Given the description of an element on the screen output the (x, y) to click on. 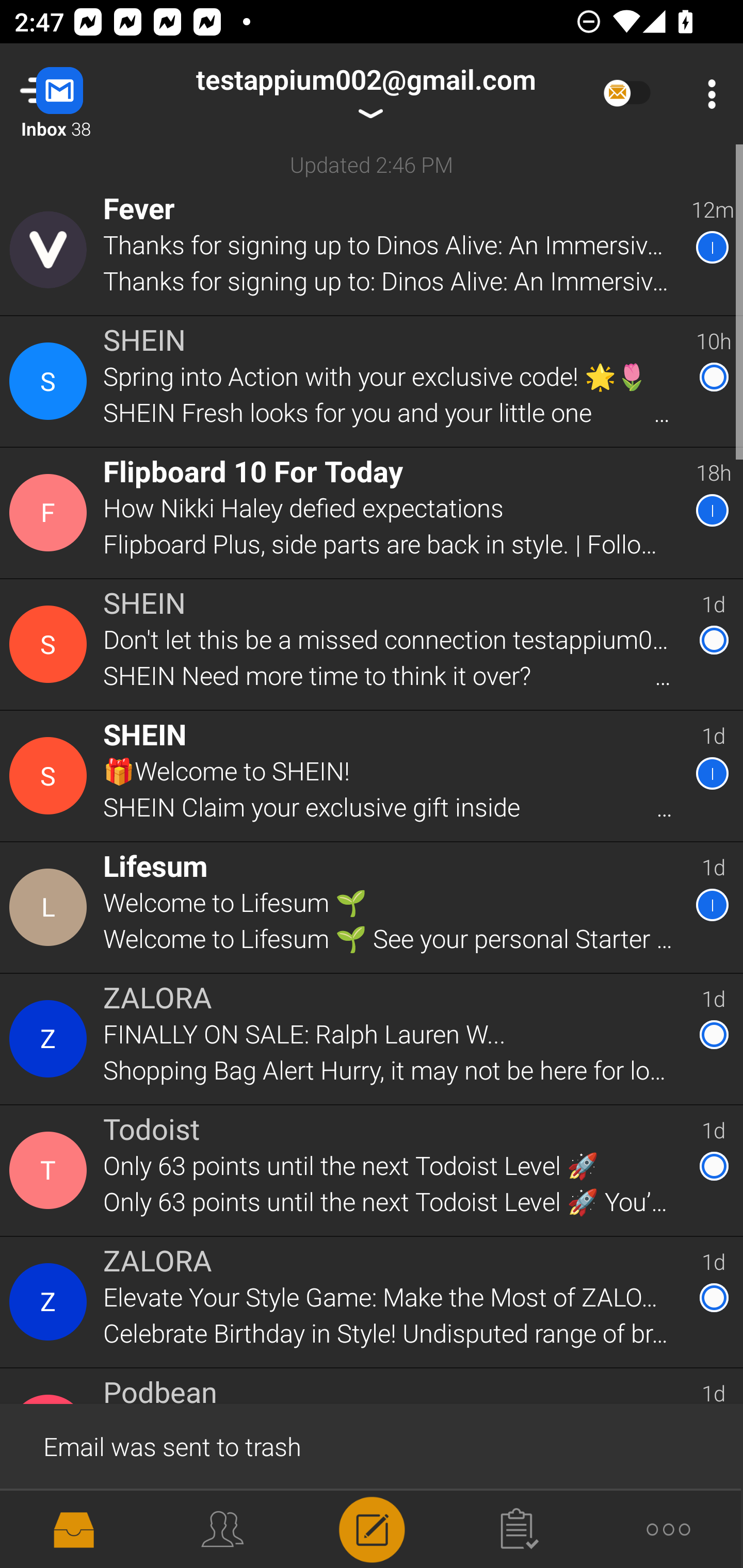
Navigate up (81, 93)
testappium002@gmail.com (365, 93)
More Options (706, 93)
Updated 2:46 PM (371, 164)
Contact Details (50, 250)
Contact Details (50, 381)
Contact Details (50, 513)
Contact Details (50, 644)
Contact Details (50, 776)
Contact Details (50, 907)
Contact Details (50, 1038)
Contact Details (50, 1170)
Contact Details (50, 1302)
Email was sent to trash (371, 1445)
Compose (371, 1528)
